Given the description of an element on the screen output the (x, y) to click on. 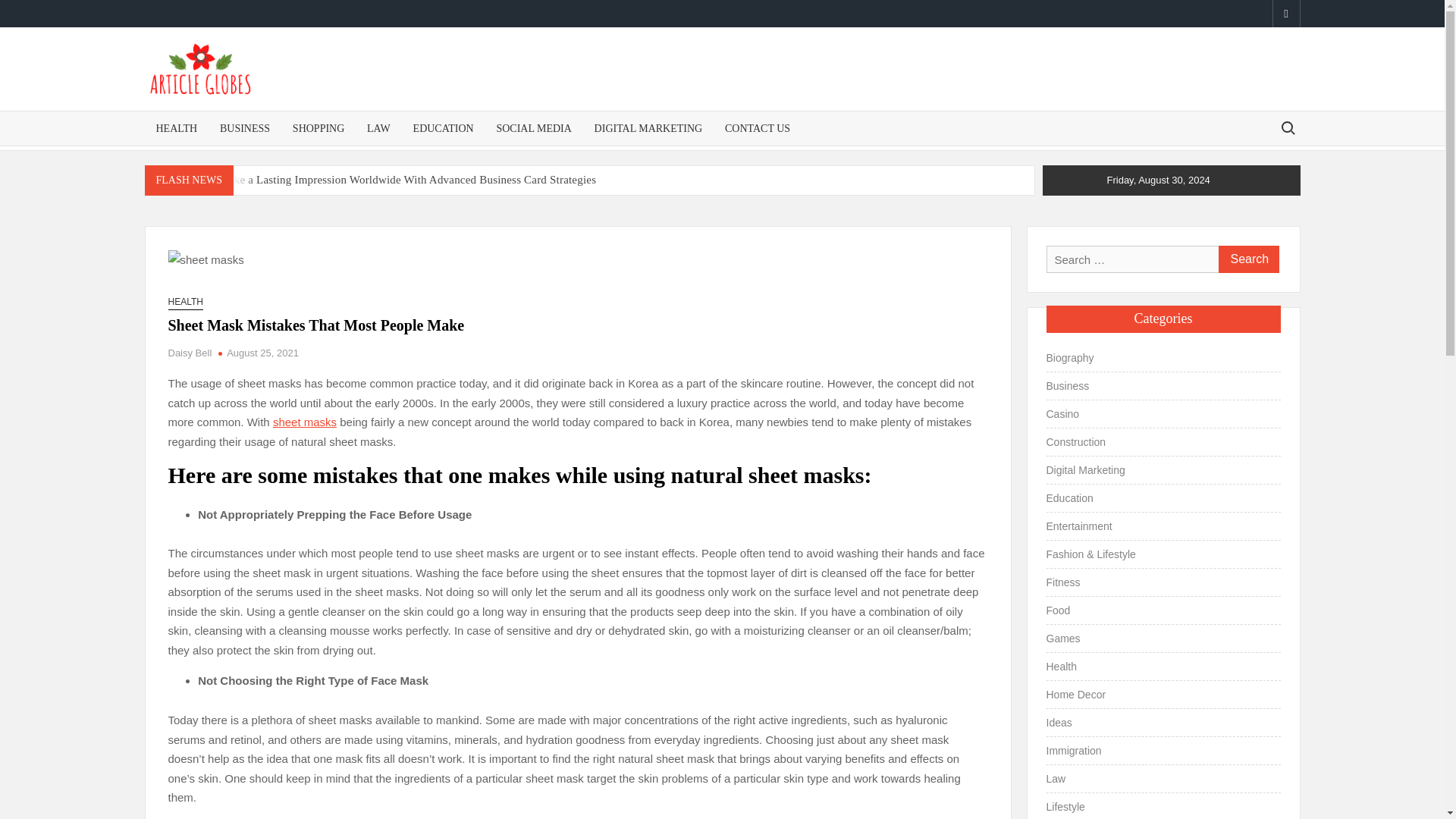
DIGITAL MARKETING (648, 128)
LAW (378, 128)
EDUCATION (442, 128)
Search (1247, 258)
Search for: (1287, 127)
Search (1247, 258)
SHOPPING (318, 128)
SOCIAL MEDIA (533, 128)
